Given the description of an element on the screen output the (x, y) to click on. 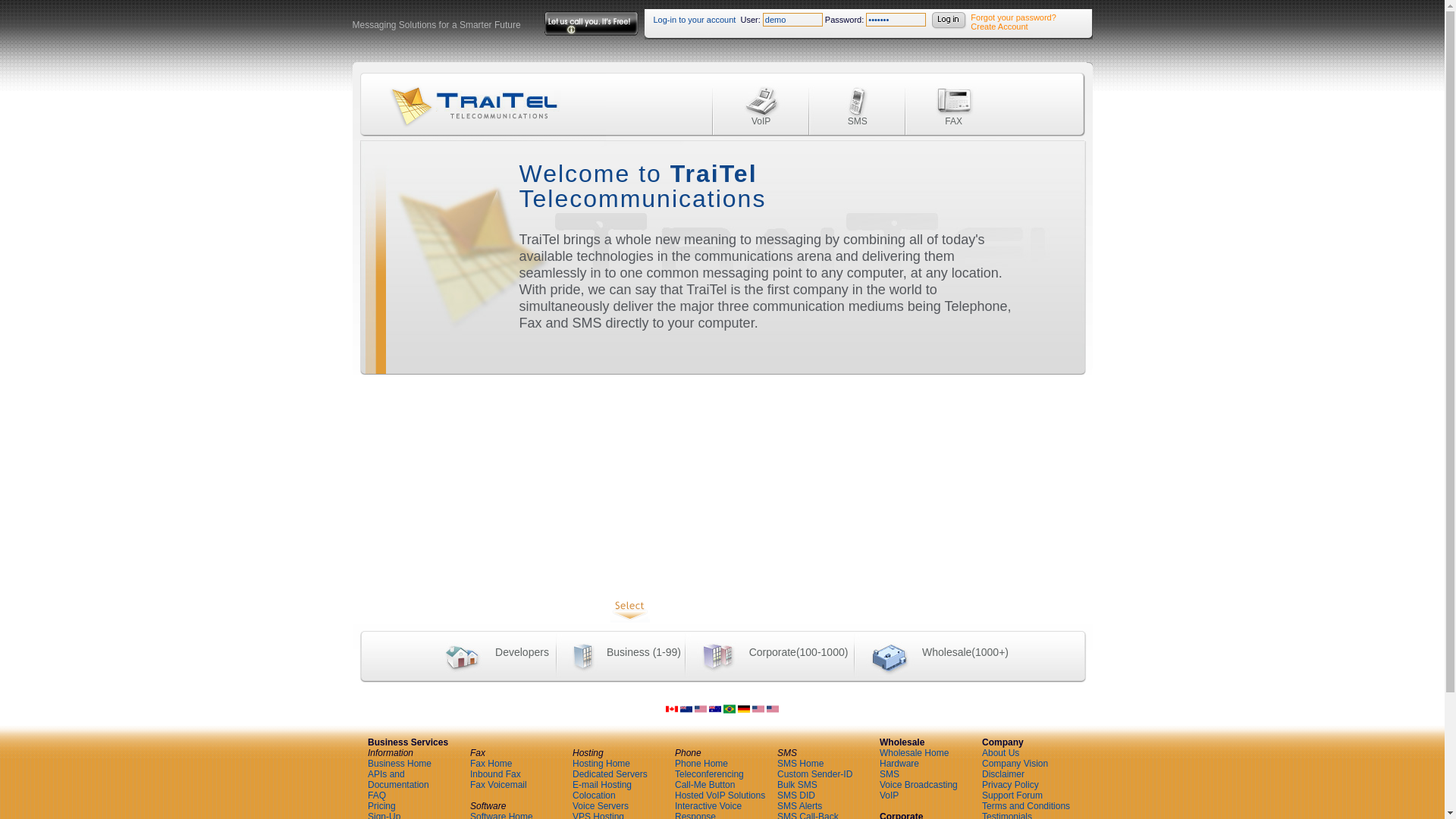
traitel.com.br (729, 711)
Forgot your password? (1014, 17)
traitel.com (700, 711)
Create Account (999, 26)
Software Home (501, 815)
traitel.ca (671, 711)
traitel.net (758, 711)
Inbound Fax (495, 774)
Fax Home (491, 763)
FAQ (376, 795)
Sign-Up (384, 815)
Colocation (593, 795)
Developers (492, 653)
 FAX (952, 101)
traitel.com.au (714, 711)
